Given the description of an element on the screen output the (x, y) to click on. 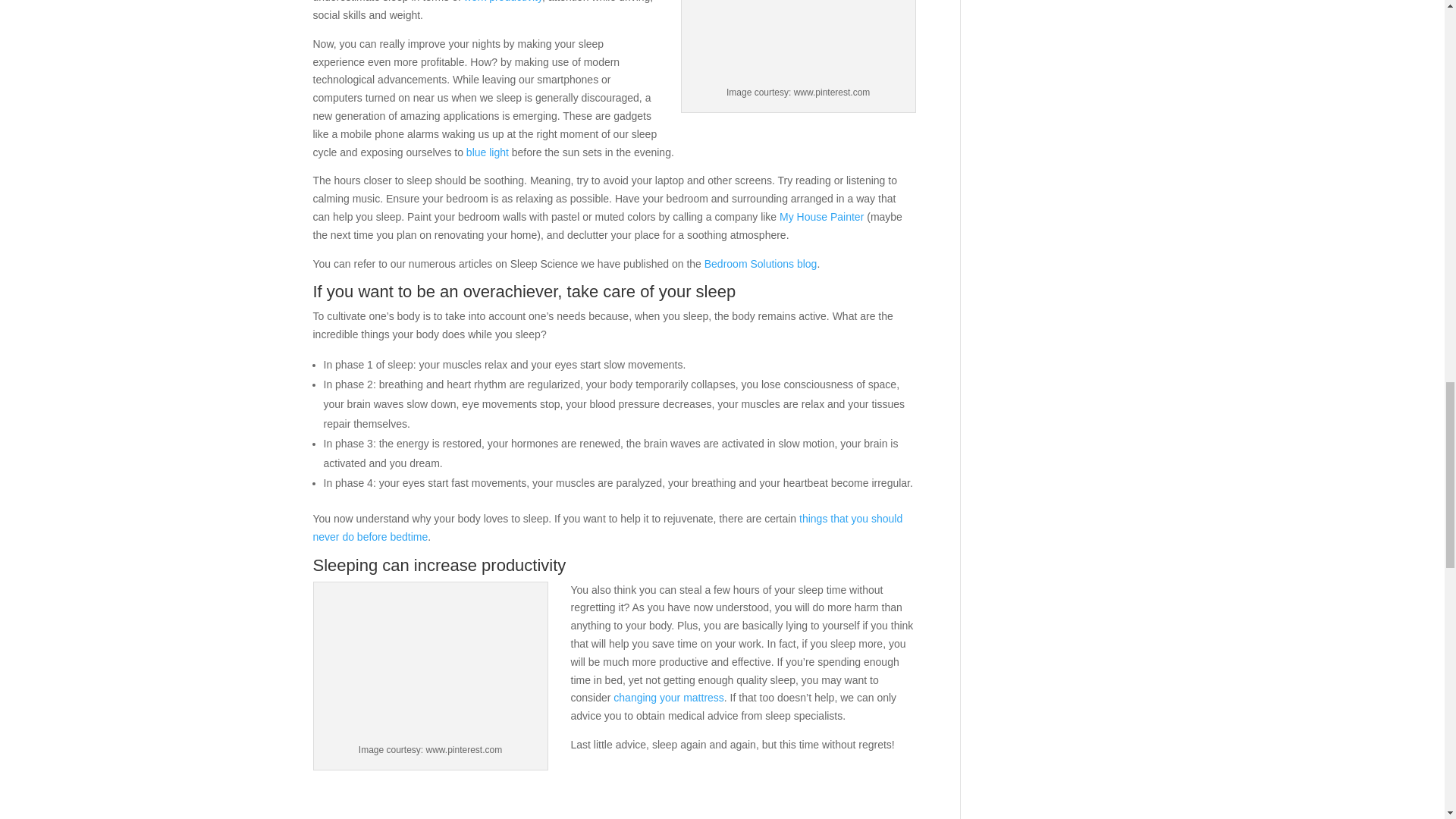
My House Painter (820, 216)
work productivity (502, 1)
blue light (486, 152)
Bedroom Solutions blog (760, 263)
changing your mattress (667, 697)
things that you should never do before bedtime (607, 527)
